Given the description of an element on the screen output the (x, y) to click on. 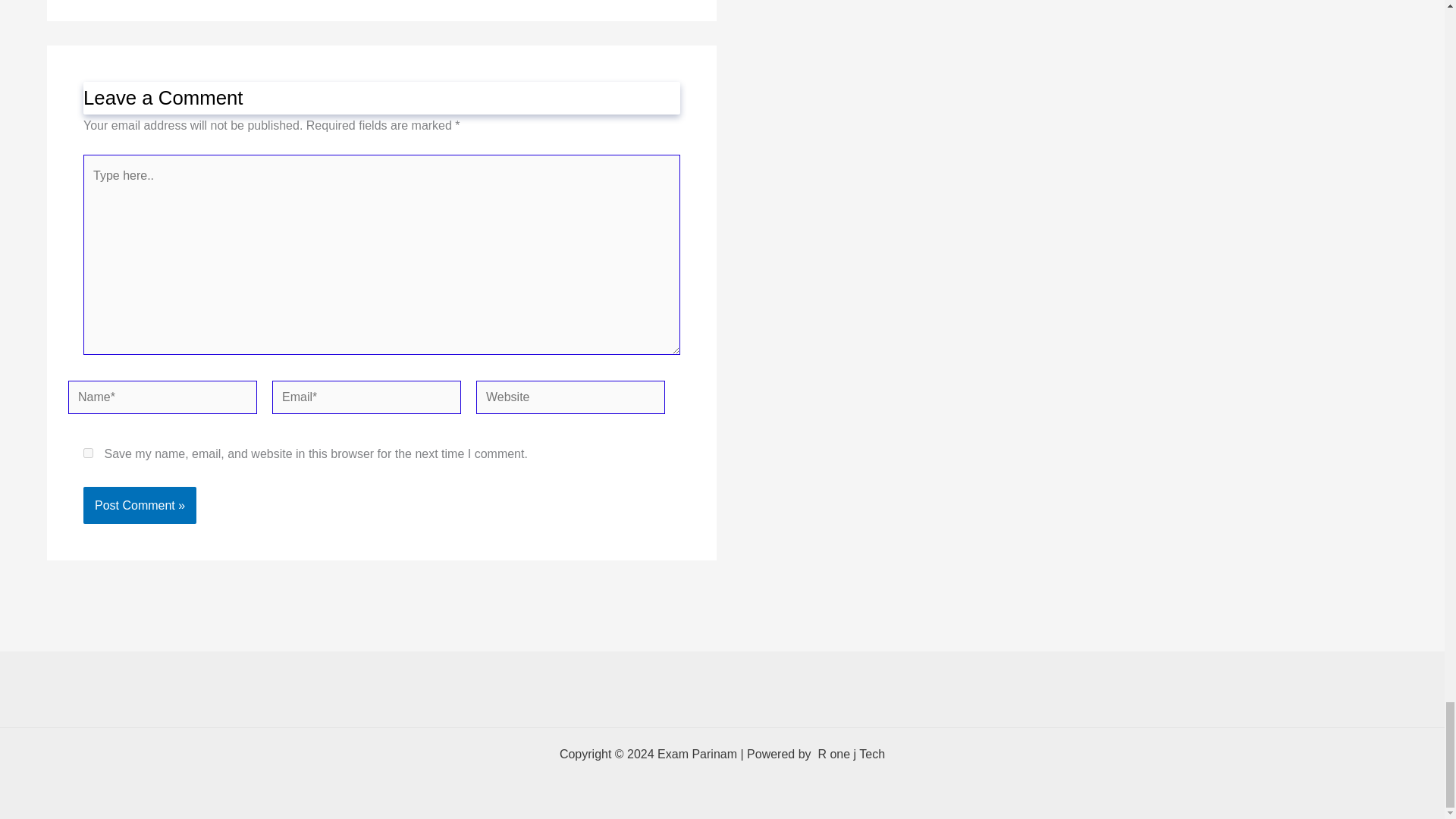
yes (87, 452)
